Given the description of an element on the screen output the (x, y) to click on. 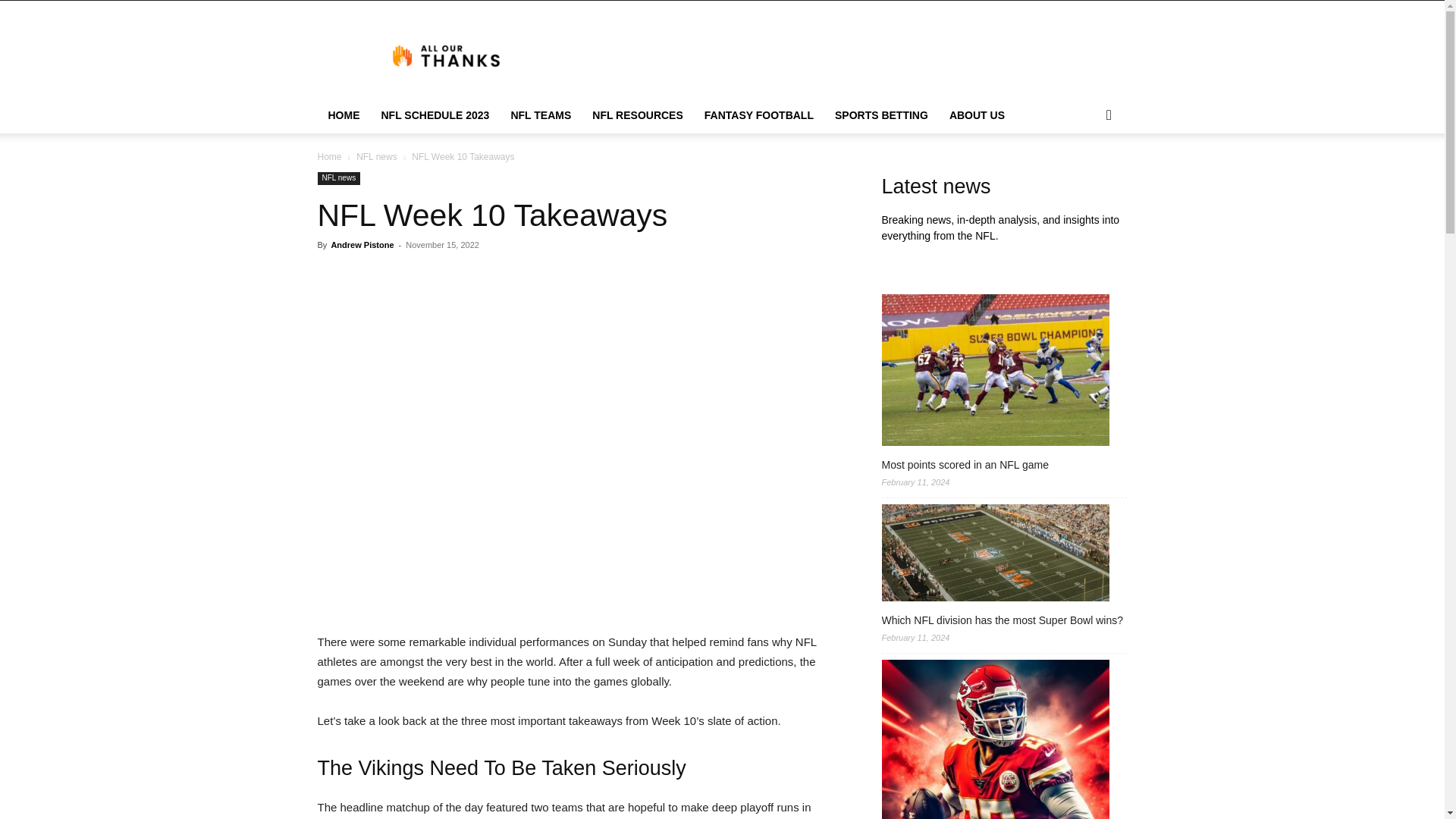
HOME (343, 115)
View all posts in NFL news (376, 156)
NFL SCHEDULE 2023 (434, 115)
NFL RESOURCES (637, 115)
NFL TEAMS (539, 115)
